Given the description of an element on the screen output the (x, y) to click on. 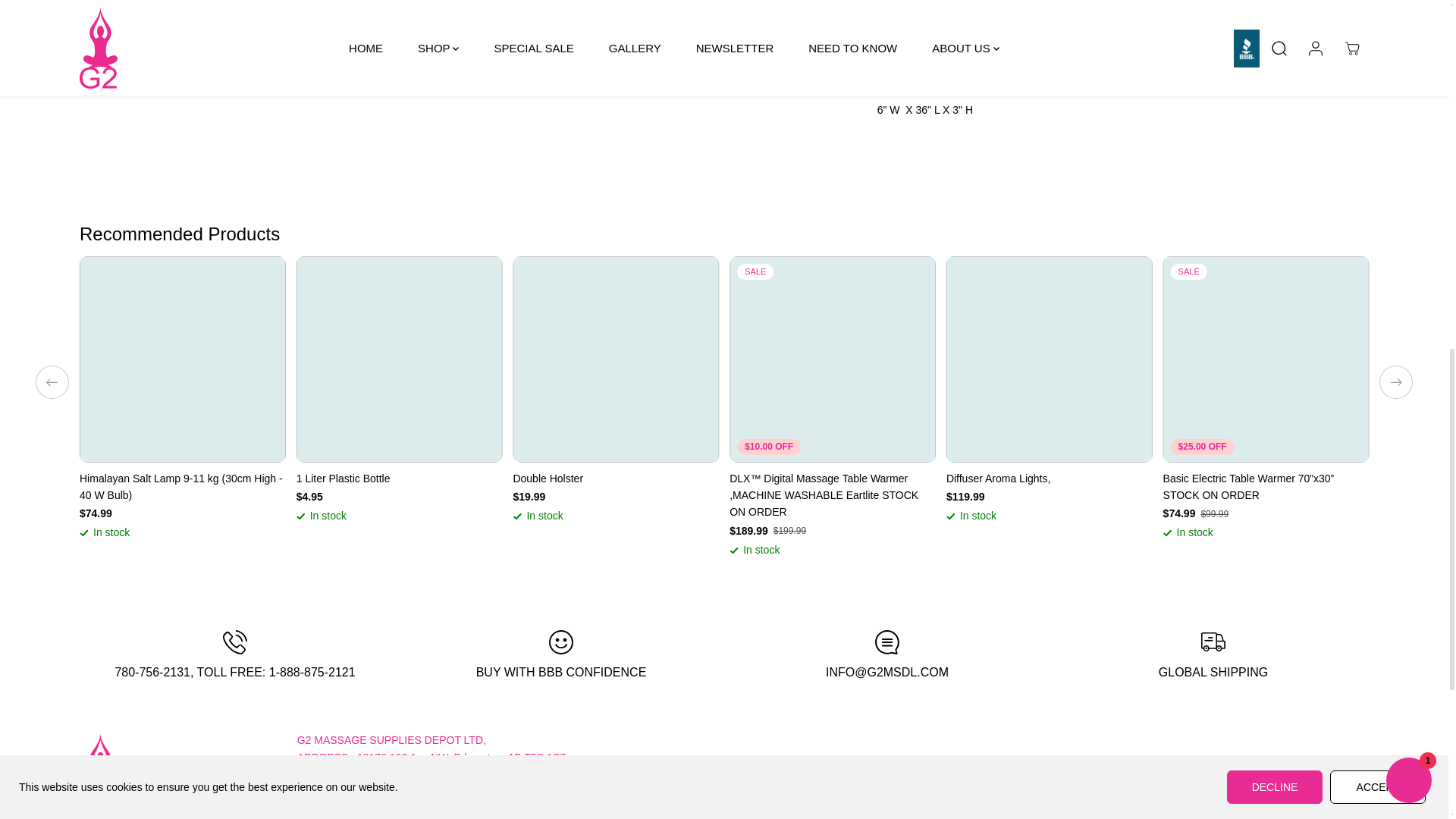
Double Holster (615, 478)
1 Liter Plastic Bottle (399, 478)
